Given the description of an element on the screen output the (x, y) to click on. 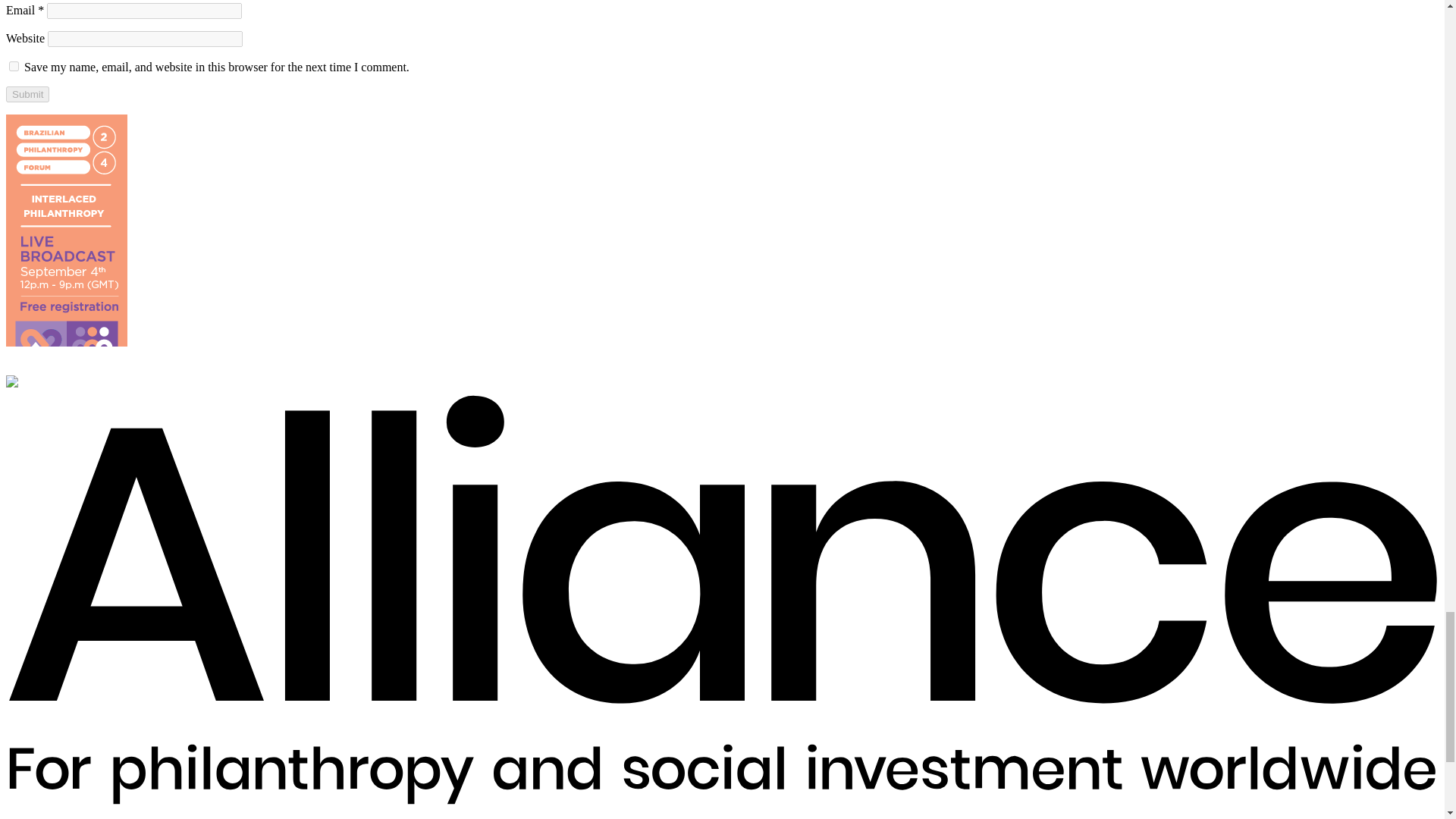
Submit (27, 94)
yes (13, 66)
